Given the description of an element on the screen output the (x, y) to click on. 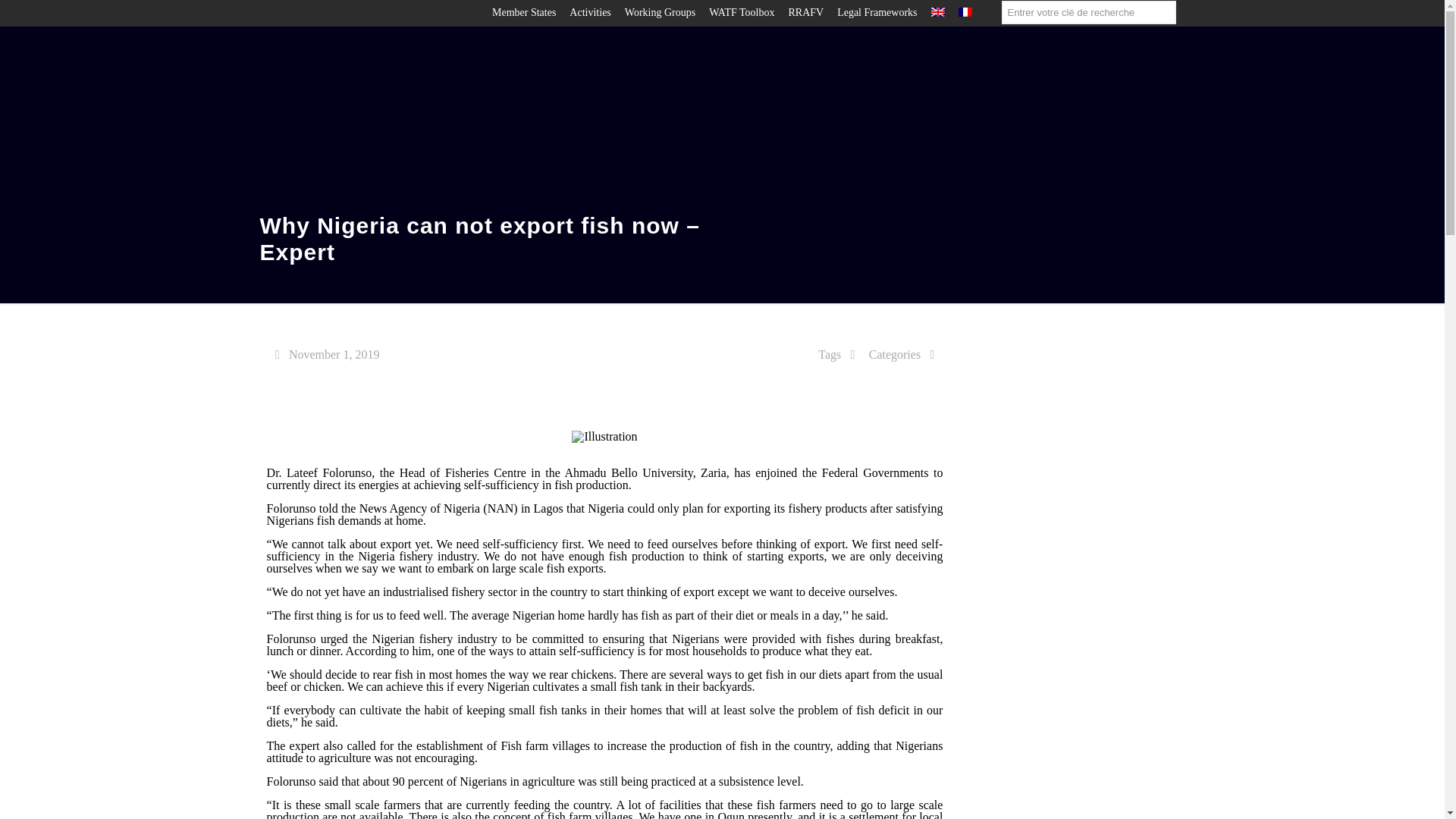
Activities (589, 12)
WATF Toolbox (741, 12)
Member States (524, 12)
Legal Frameworks (877, 12)
Working Groups (659, 12)
RRAFV (805, 12)
